Given the description of an element on the screen output the (x, y) to click on. 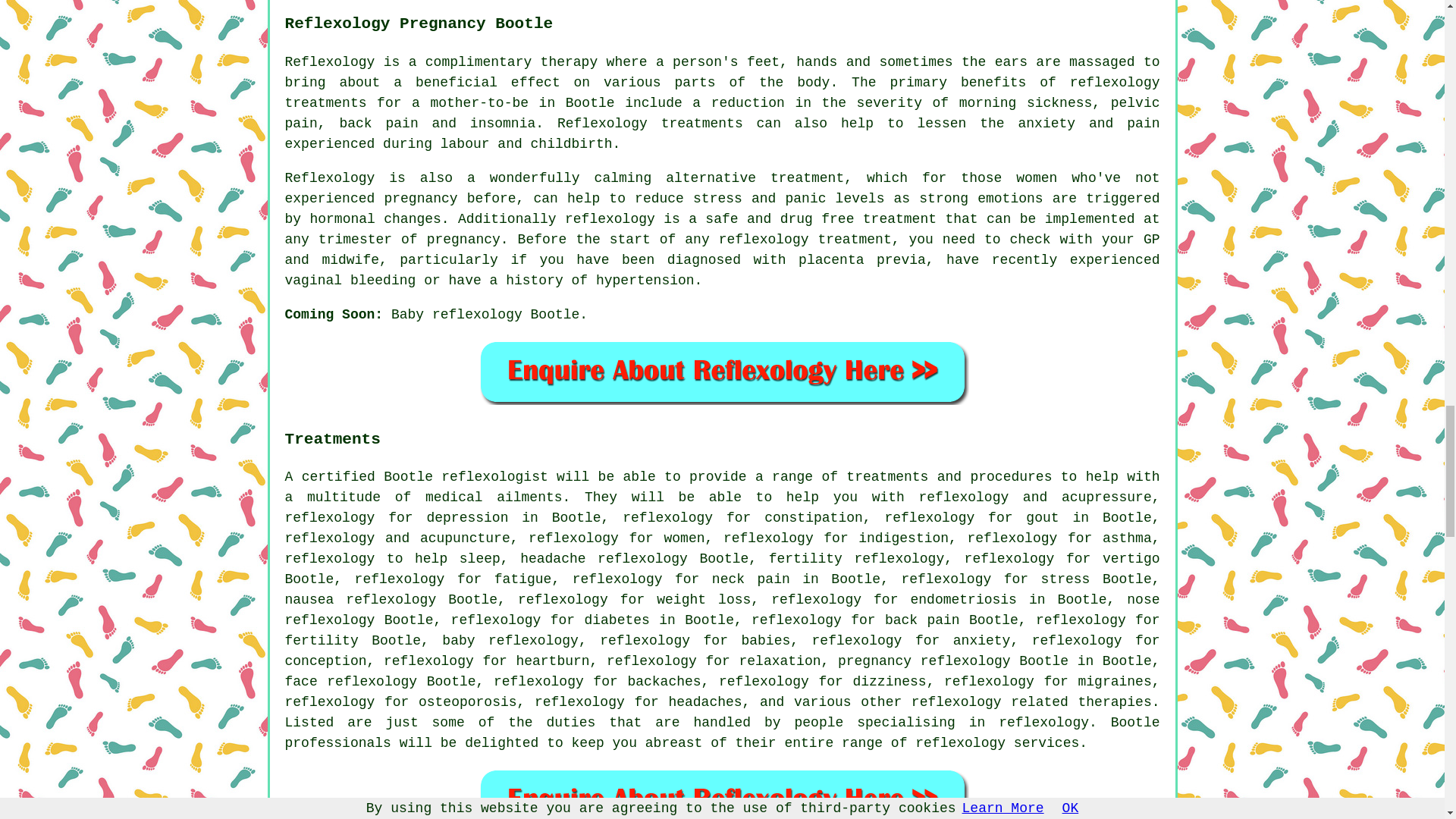
Book a Reflexologist in Bootle UK (722, 371)
reflexology for asthma (1058, 538)
sleep (480, 558)
